Given the description of an element on the screen output the (x, y) to click on. 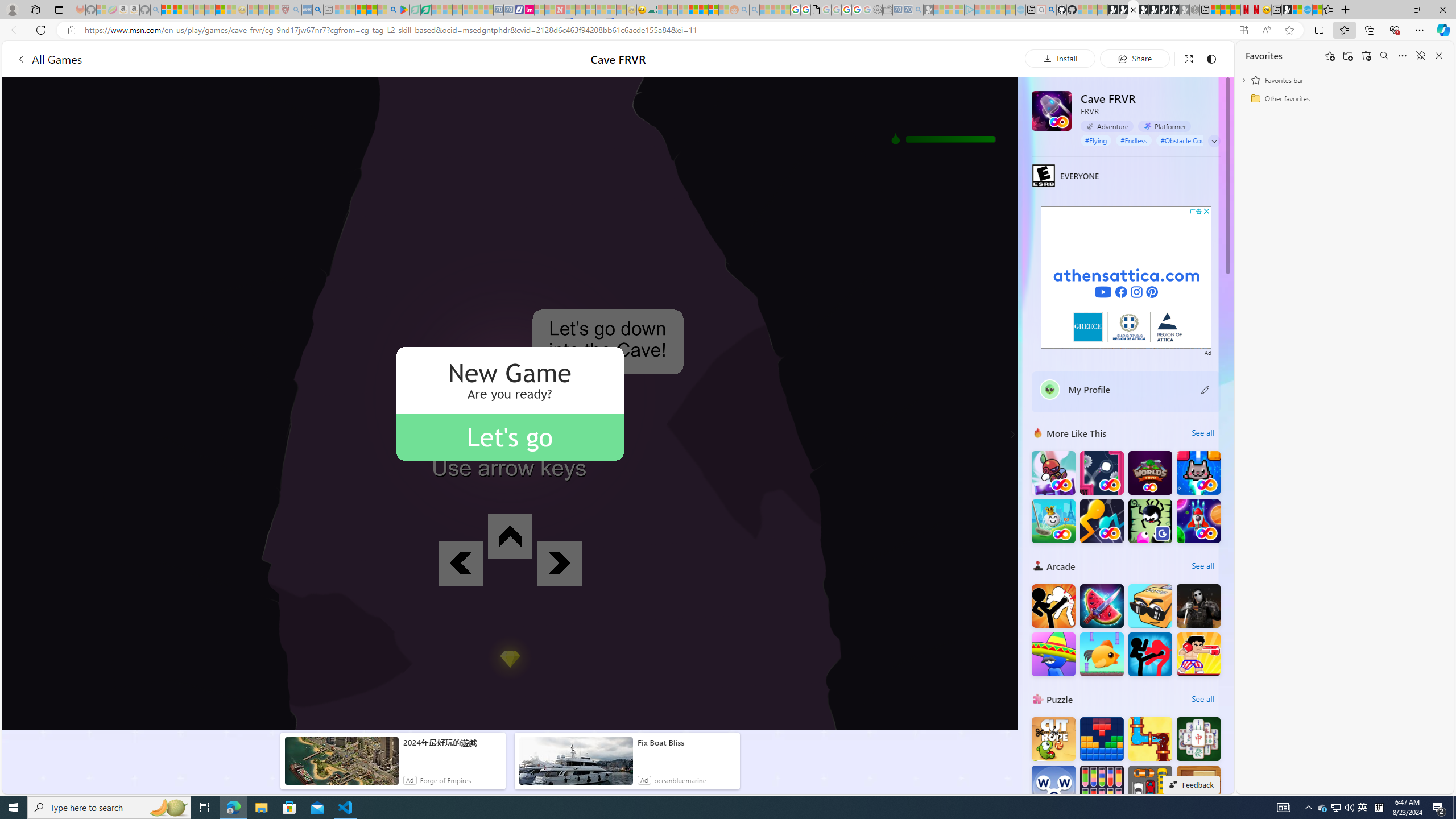
Advertisement (1126, 277)
Local - MSN - Sleeping (274, 9)
#Flying (1096, 140)
Lines FRVR (1101, 521)
#Obstacle Course (1187, 140)
Stickman Brawl (1053, 653)
